Given the description of an element on the screen output the (x, y) to click on. 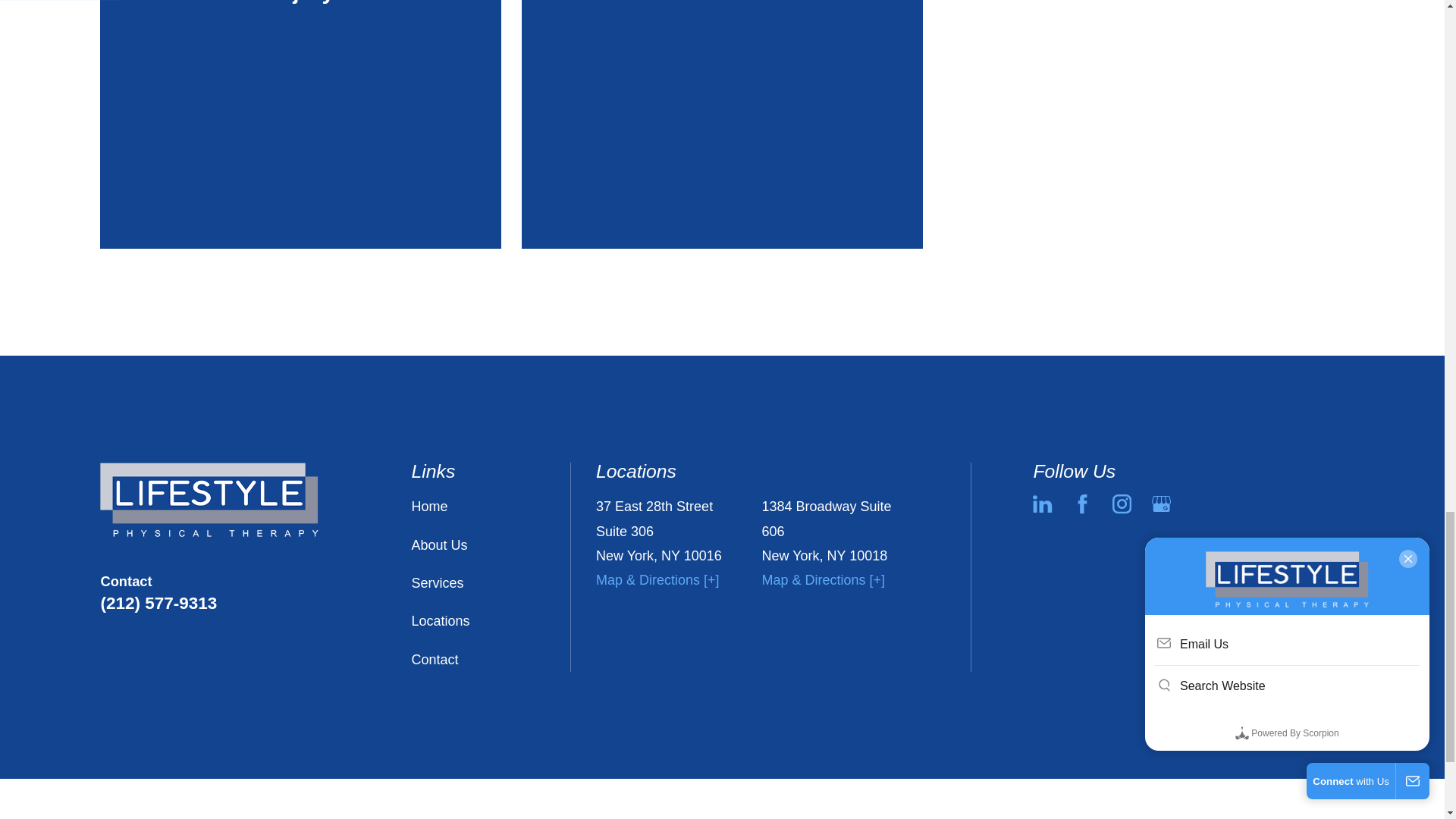
Instagram (1121, 503)
Home (209, 499)
Facebook (1082, 503)
Google Business Profile (1160, 503)
LinkedIn (1041, 503)
